Given the description of an element on the screen output the (x, y) to click on. 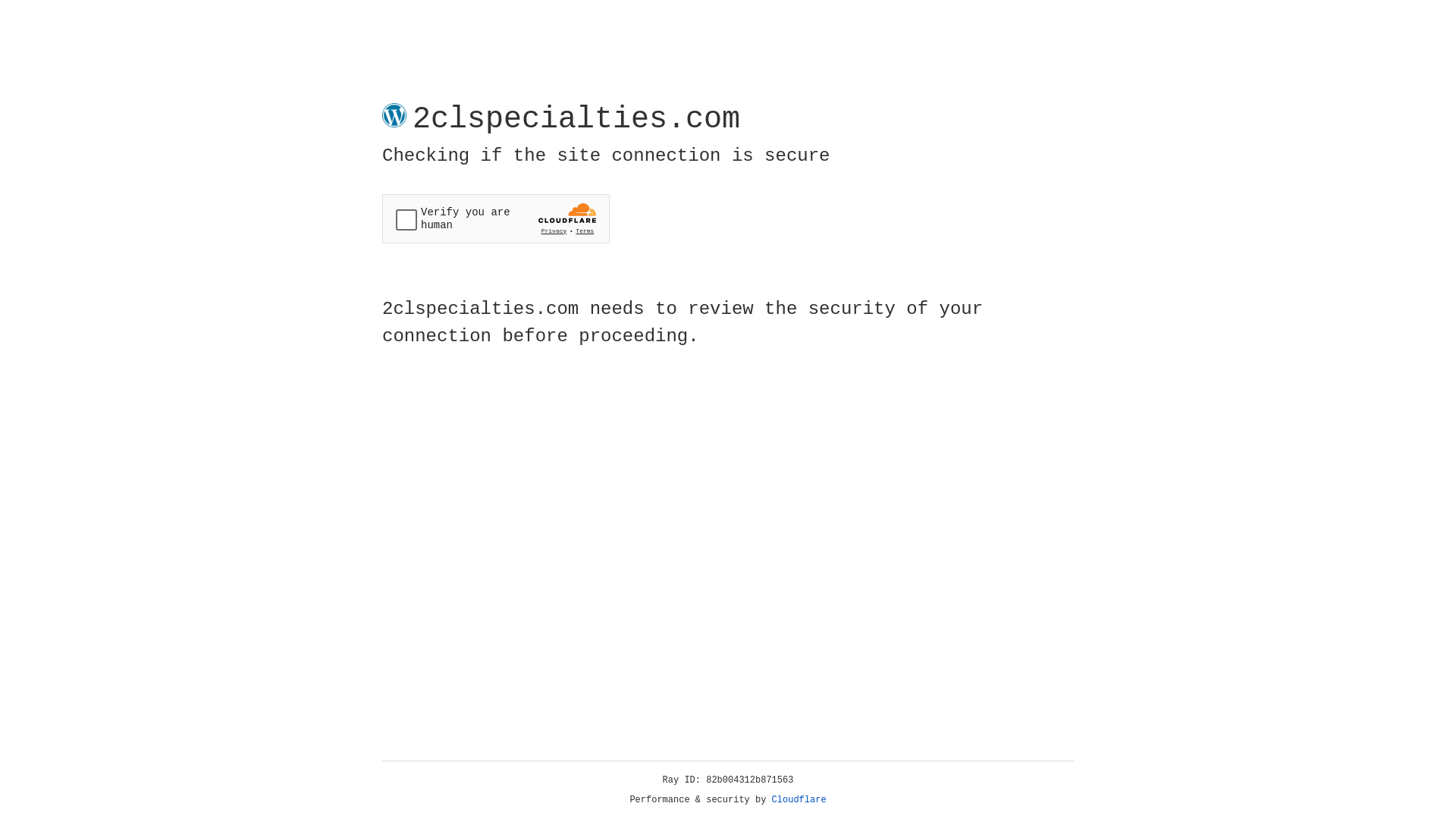
Widget containing a Cloudflare security challenge Element type: hover (495, 218)
Cloudflare Element type: text (798, 799)
